Given the description of an element on the screen output the (x, y) to click on. 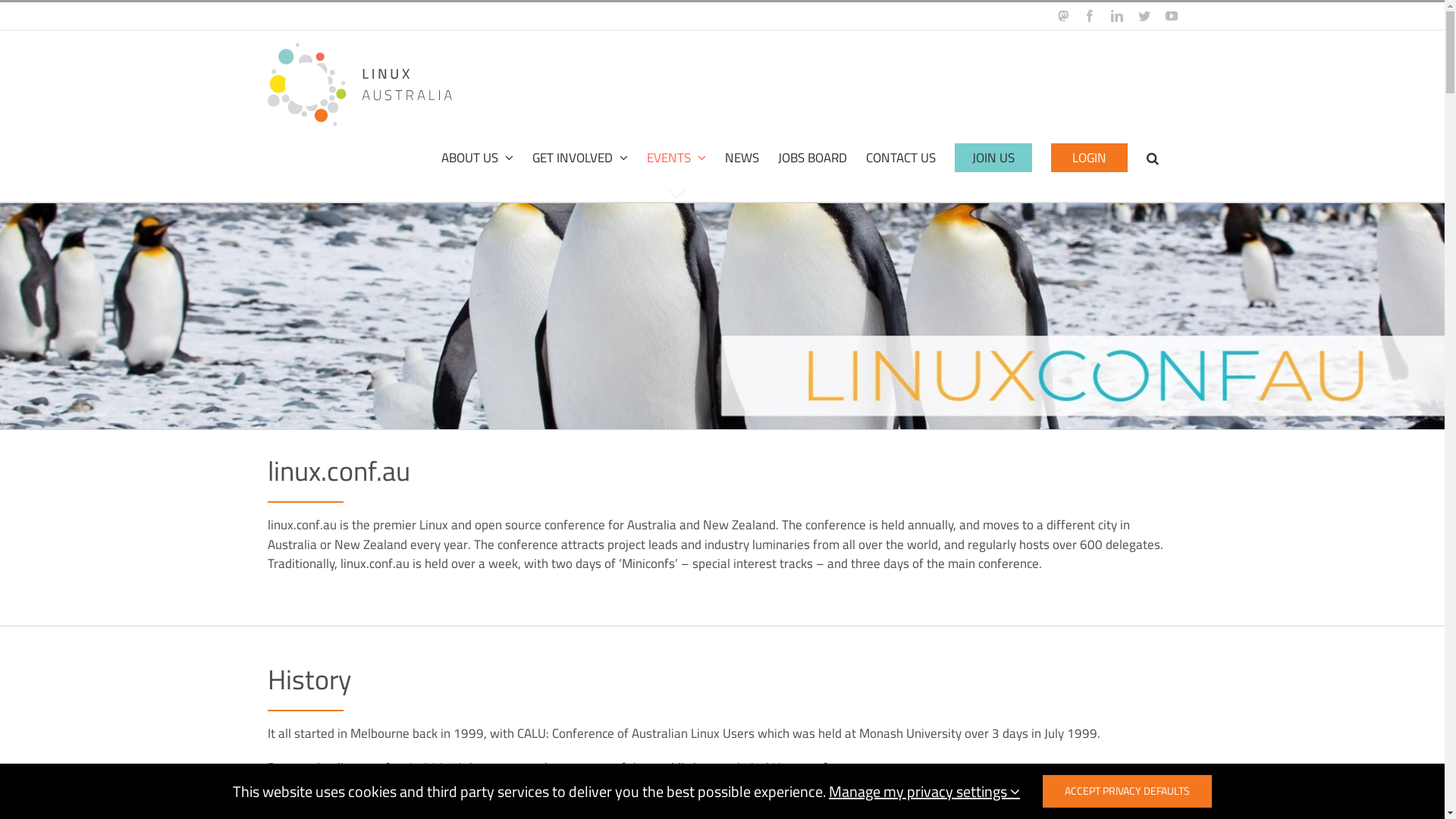
LinkedIn Element type: text (1116, 15)
ACCEPT PRIVACY DEFAULTS Element type: text (1126, 791)
JOBS BOARD Element type: text (812, 157)
NEWS Element type: text (741, 157)
Twitter Element type: text (1143, 15)
CONTACT US Element type: text (900, 157)
ABOUT US Element type: text (477, 157)
Search Element type: hover (1152, 157)
Mastodon Element type: text (1062, 15)
GET INVOLVED Element type: text (579, 157)
JOIN US Element type: text (992, 157)
Manage my privacy settings Element type: text (923, 790)
YouTube Element type: text (1170, 15)
Facebook Element type: text (1088, 15)
EVENTS Element type: text (675, 157)
LOGIN Element type: text (1089, 157)
